Given the description of an element on the screen output the (x, y) to click on. 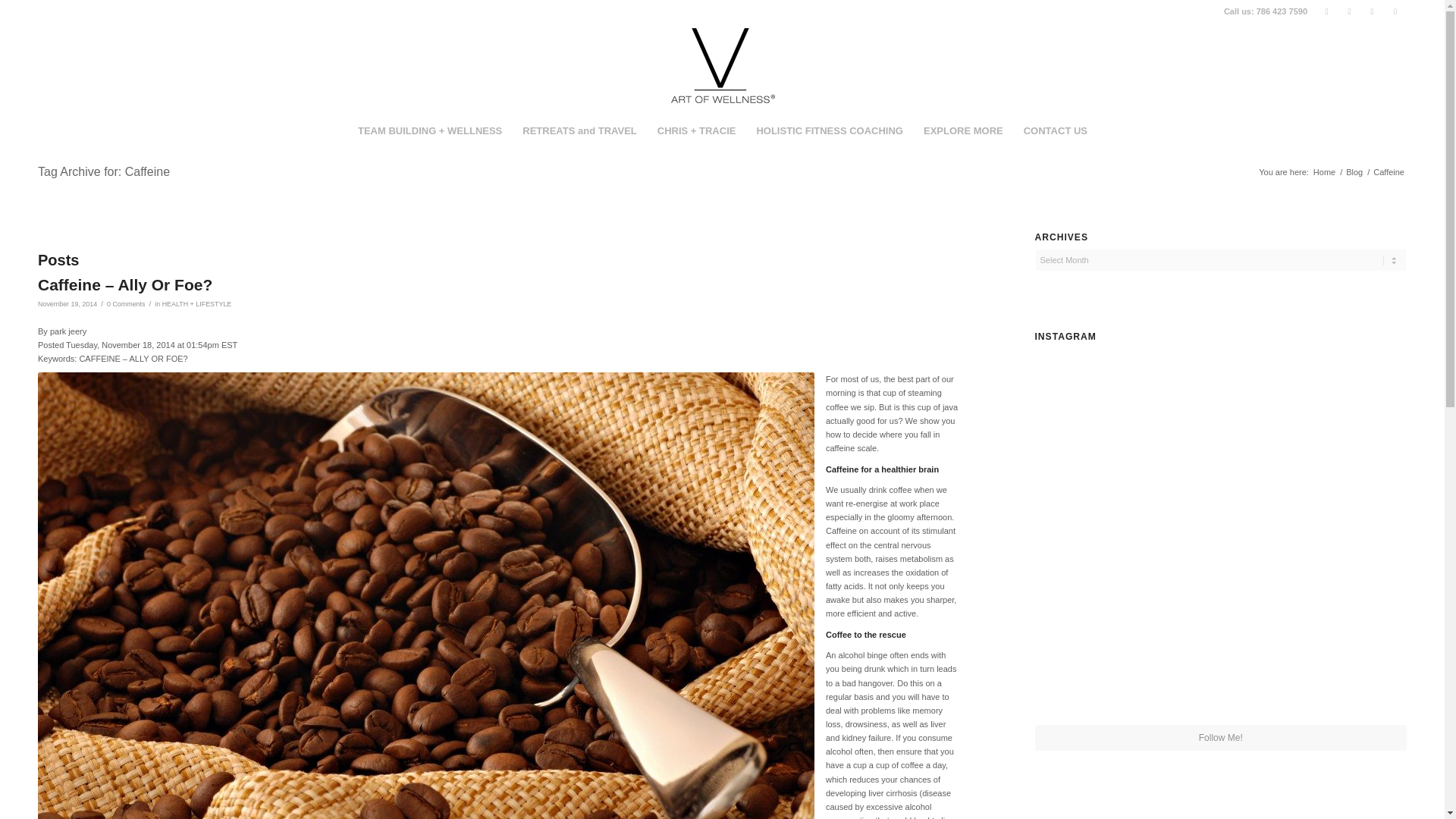
Home (1324, 172)
Pinterest (1395, 11)
Instagram (1372, 11)
CONTACT US (1055, 130)
HOLISTIC FITNESS COACHING (828, 130)
v-art-of-wellness-logo-web-4 (721, 67)
Blog (1354, 172)
v-art-of-wellness-logo-web-4 (721, 65)
Permanent Link: Tag Archive for: Caffeine (103, 171)
0 Comments (125, 303)
